Given the description of an element on the screen output the (x, y) to click on. 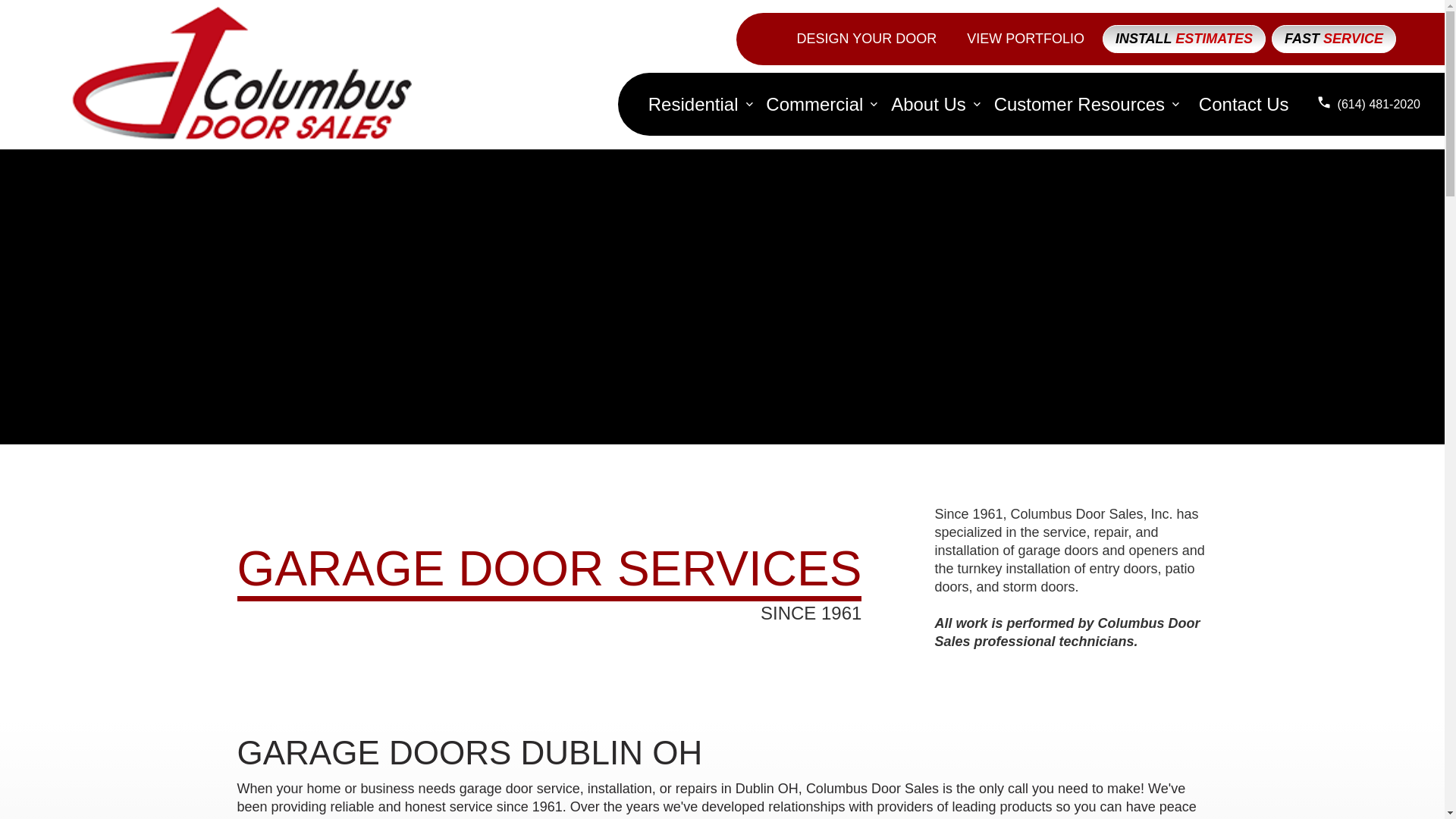
INSTALL ESTIMATES (1183, 39)
DESIGN YOUR DOOR (866, 38)
VIEW PORTFOLIO (1025, 38)
Residential (692, 104)
FAST SERVICE (1333, 39)
